Given the description of an element on the screen output the (x, y) to click on. 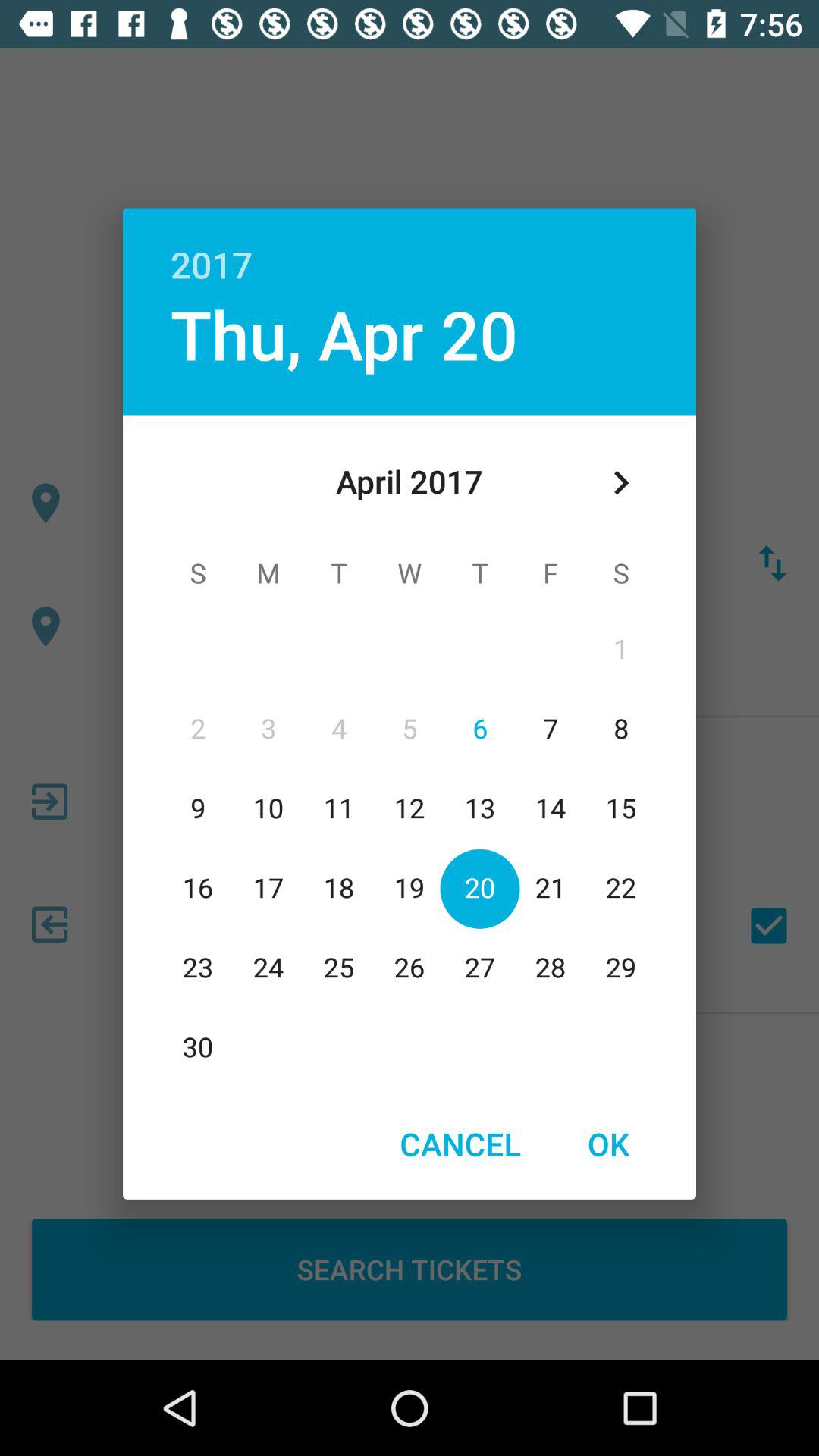
select the item at the bottom (459, 1143)
